Given the description of an element on the screen output the (x, y) to click on. 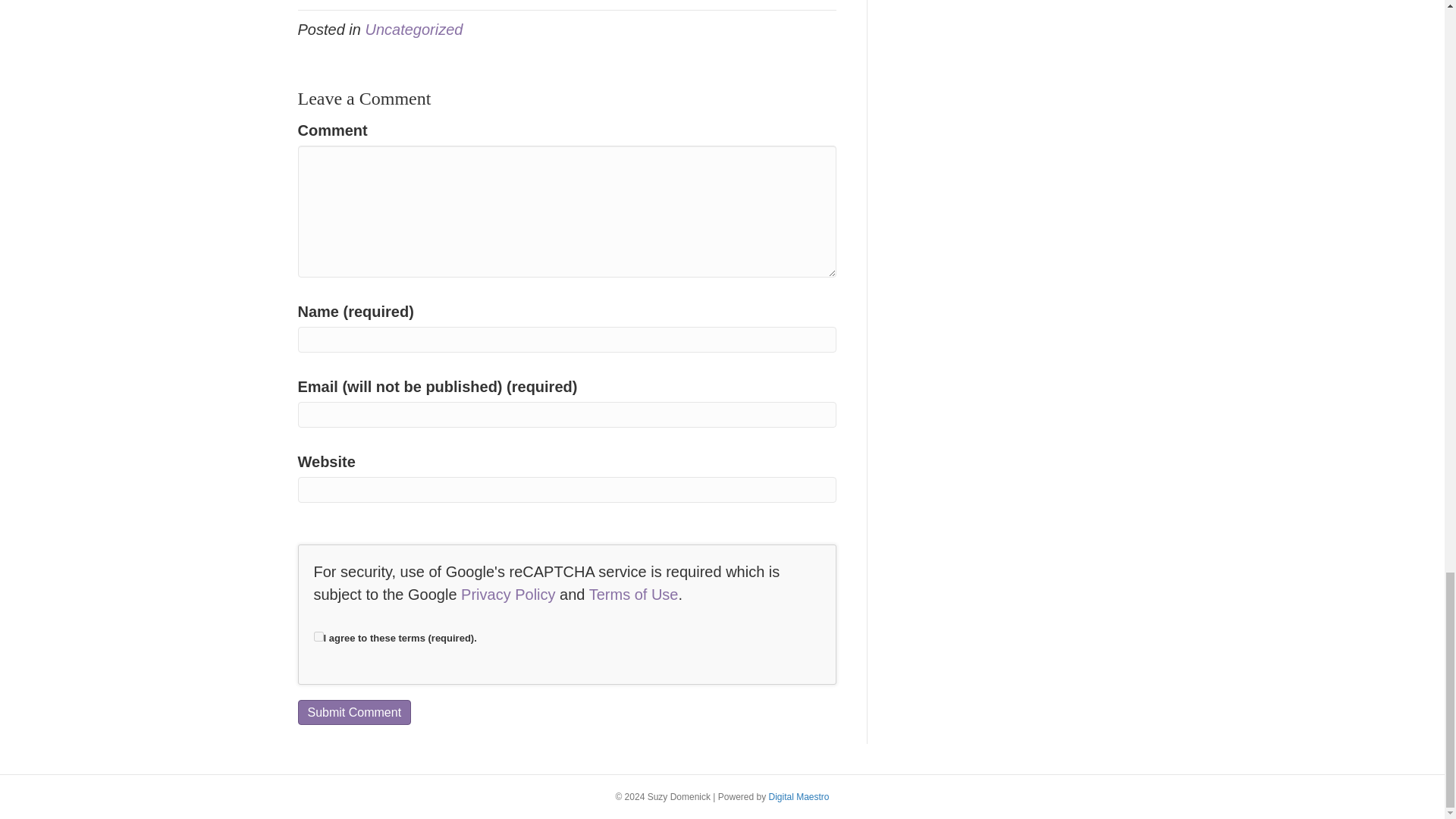
Privacy Policy (507, 594)
on (318, 636)
Submit Comment (353, 712)
Digital Maestro (798, 796)
Terms of Use (633, 594)
Uncategorized (414, 29)
Submit Comment (353, 712)
